Given the description of an element on the screen output the (x, y) to click on. 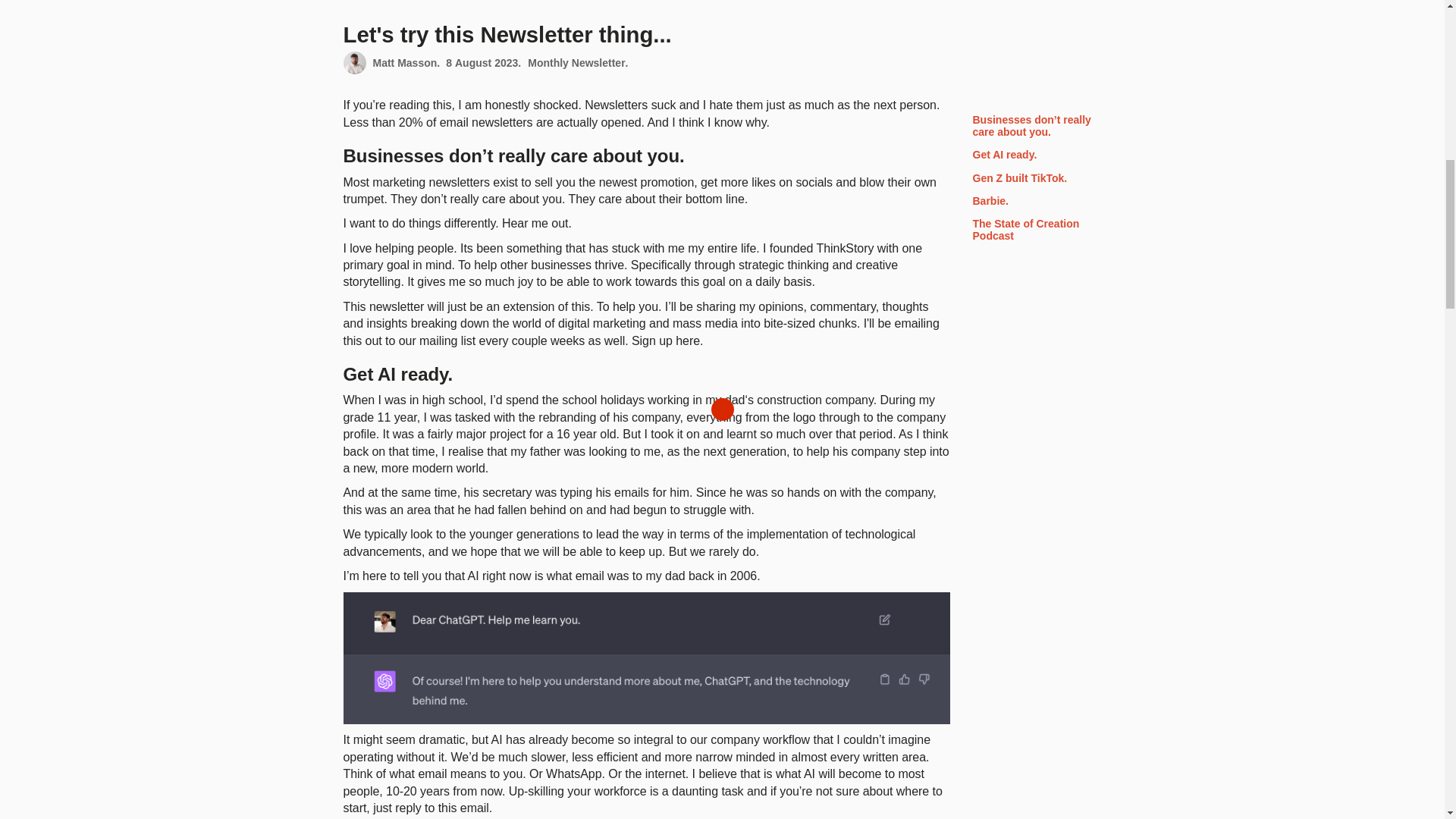
Matt Masson (405, 62)
Monthly Newsletter (575, 62)
Barbie. (1036, 185)
The State of Creation Podcast (1036, 214)
Gen Z built TikTok. (1036, 161)
Get AI ready. (1036, 139)
